Given the description of an element on the screen output the (x, y) to click on. 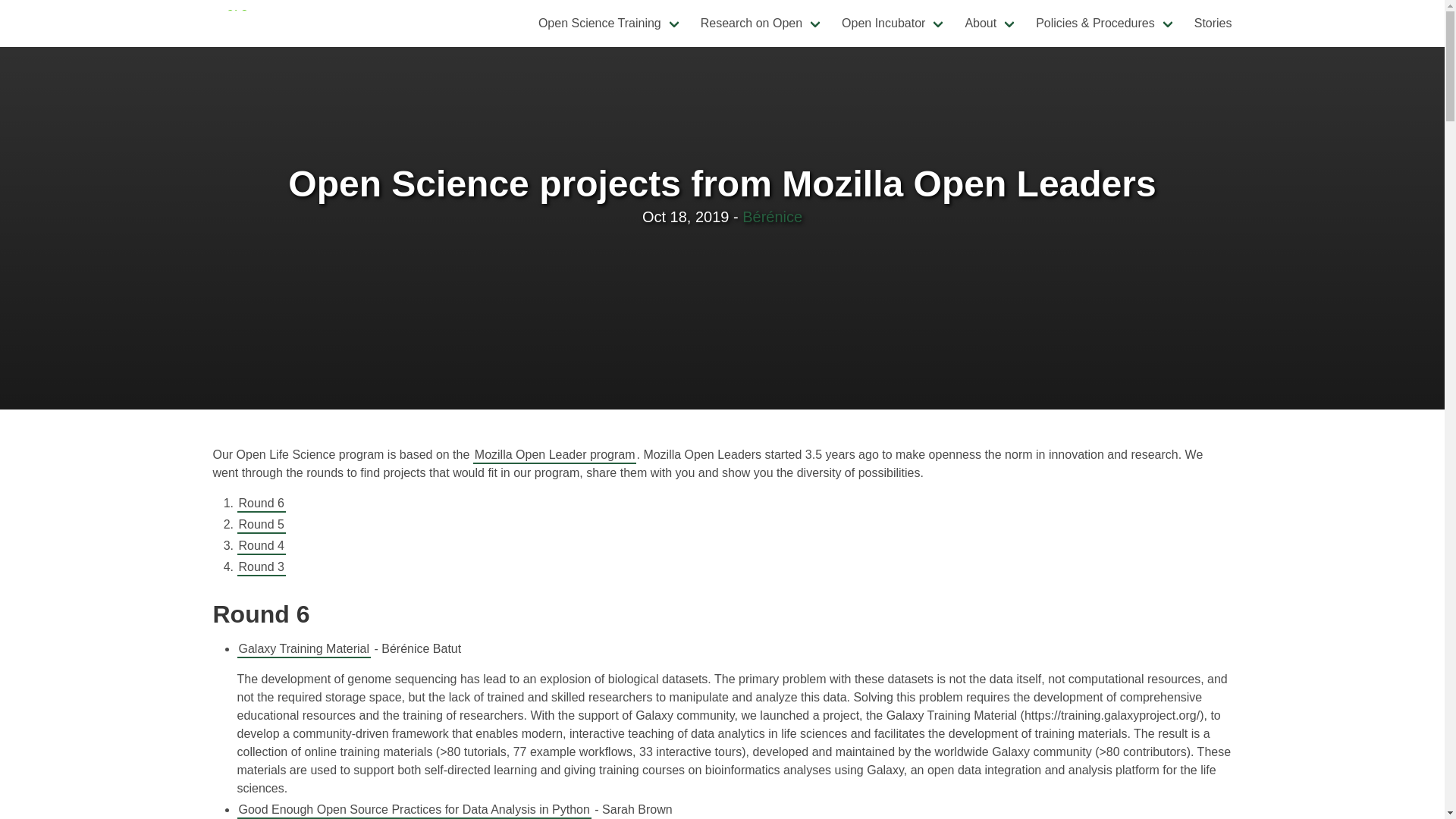
Open Incubator (893, 23)
Research on Open (761, 23)
Mozilla Open Leader program (555, 455)
About (990, 23)
Stories (1213, 23)
Round 5 (260, 524)
Round 6 (260, 503)
Open Science Training (610, 23)
